Given the description of an element on the screen output the (x, y) to click on. 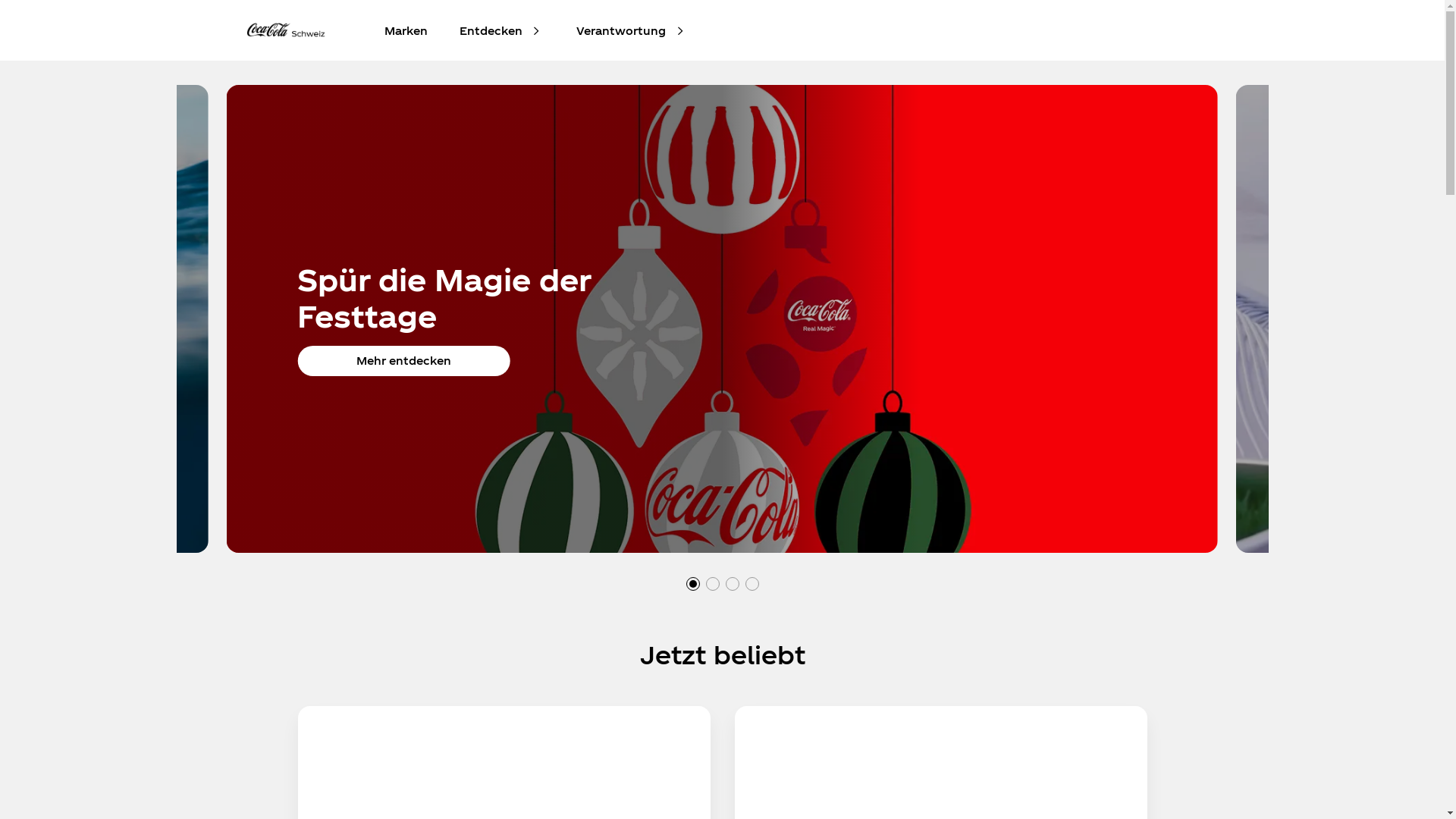
Mehr entdecken Element type: text (403, 360)
Entdecken Element type: text (490, 30)
Marken Element type: text (405, 30)
Verantwortung Element type: text (620, 30)
